Given the description of an element on the screen output the (x, y) to click on. 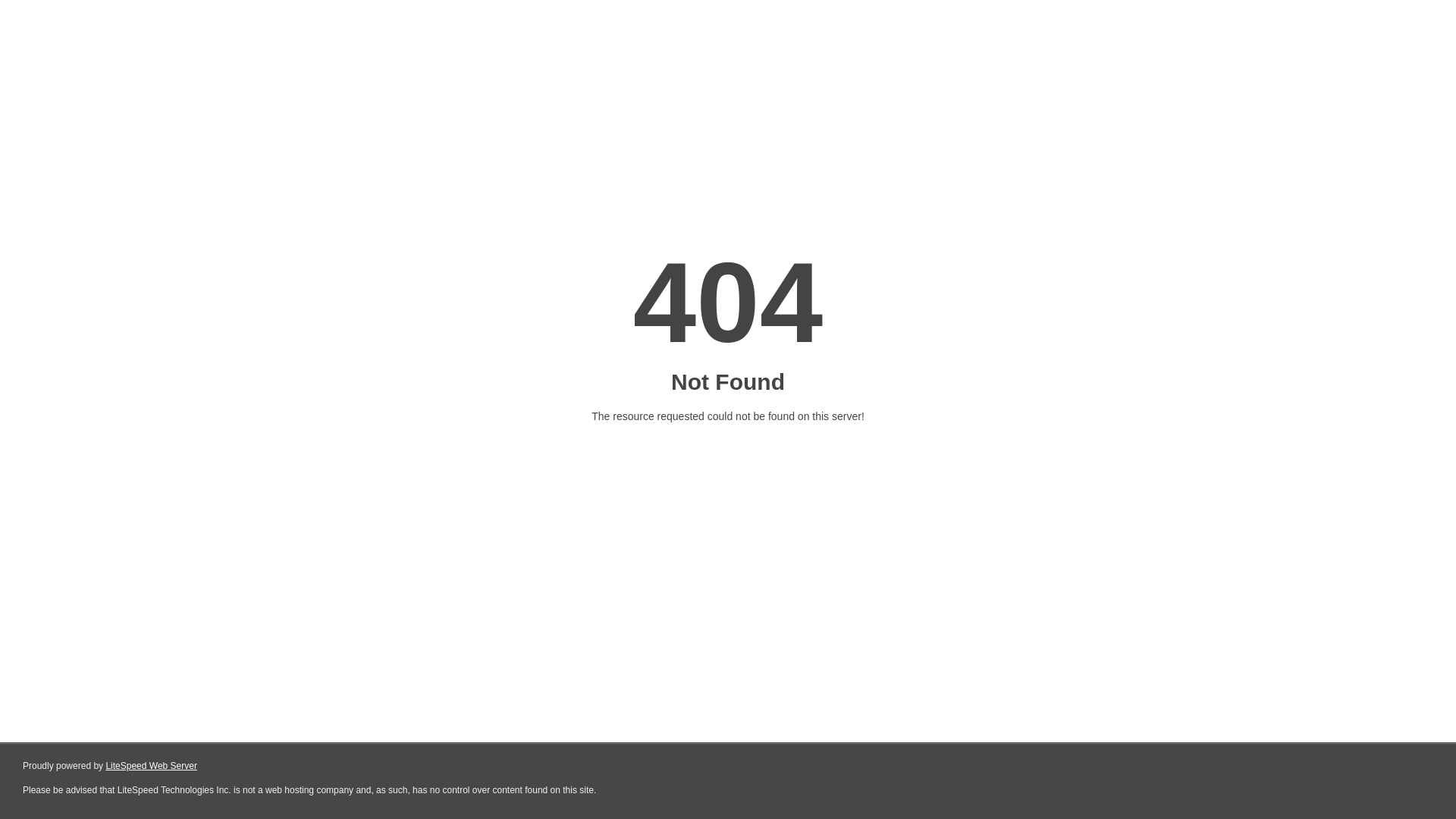
LiteSpeed Web Server Element type: text (151, 765)
